Given the description of an element on the screen output the (x, y) to click on. 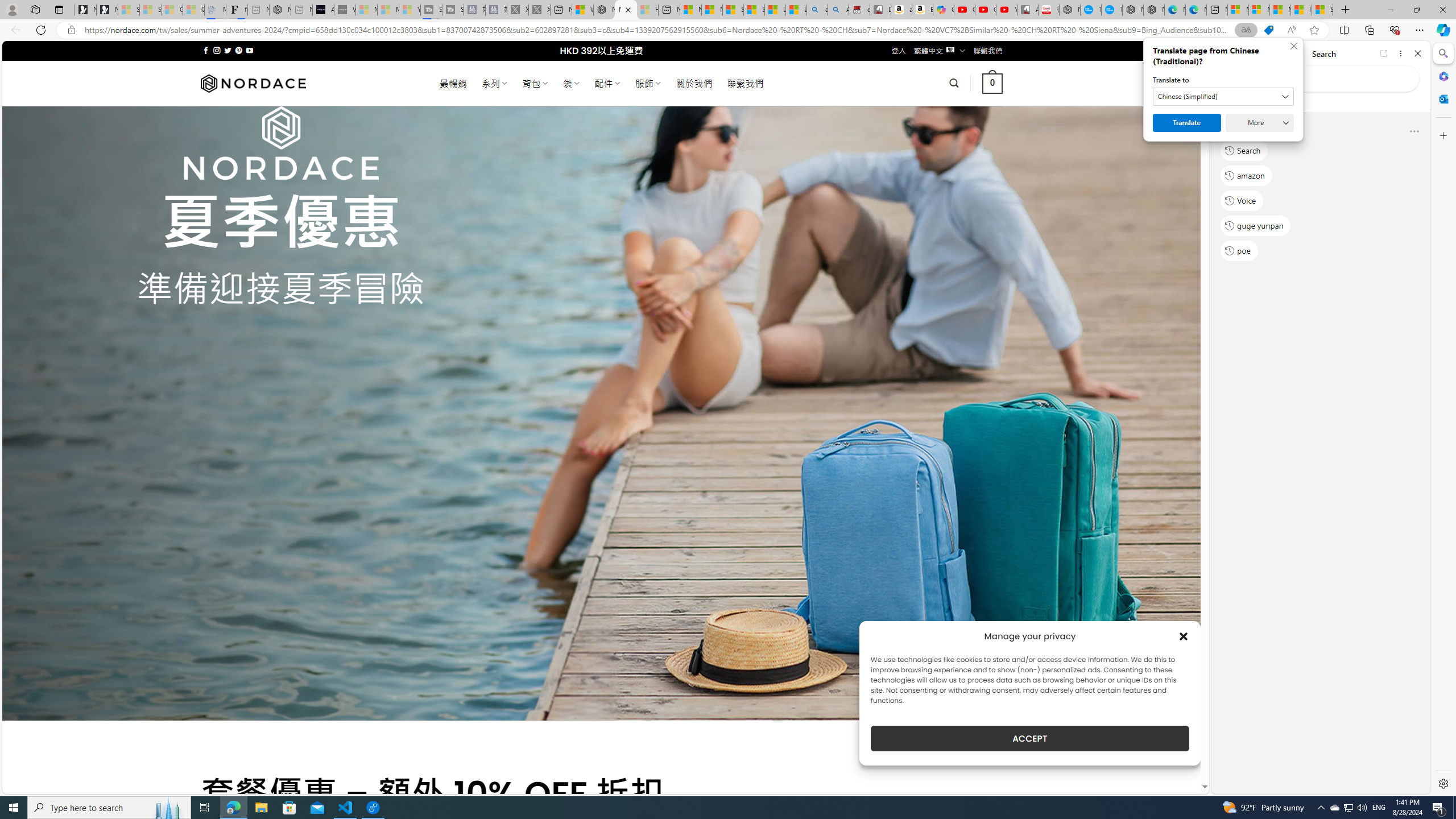
 0  (992, 83)
AI Voice Changer for PC and Mac - Voice.ai (323, 9)
